Given the description of an element on the screen output the (x, y) to click on. 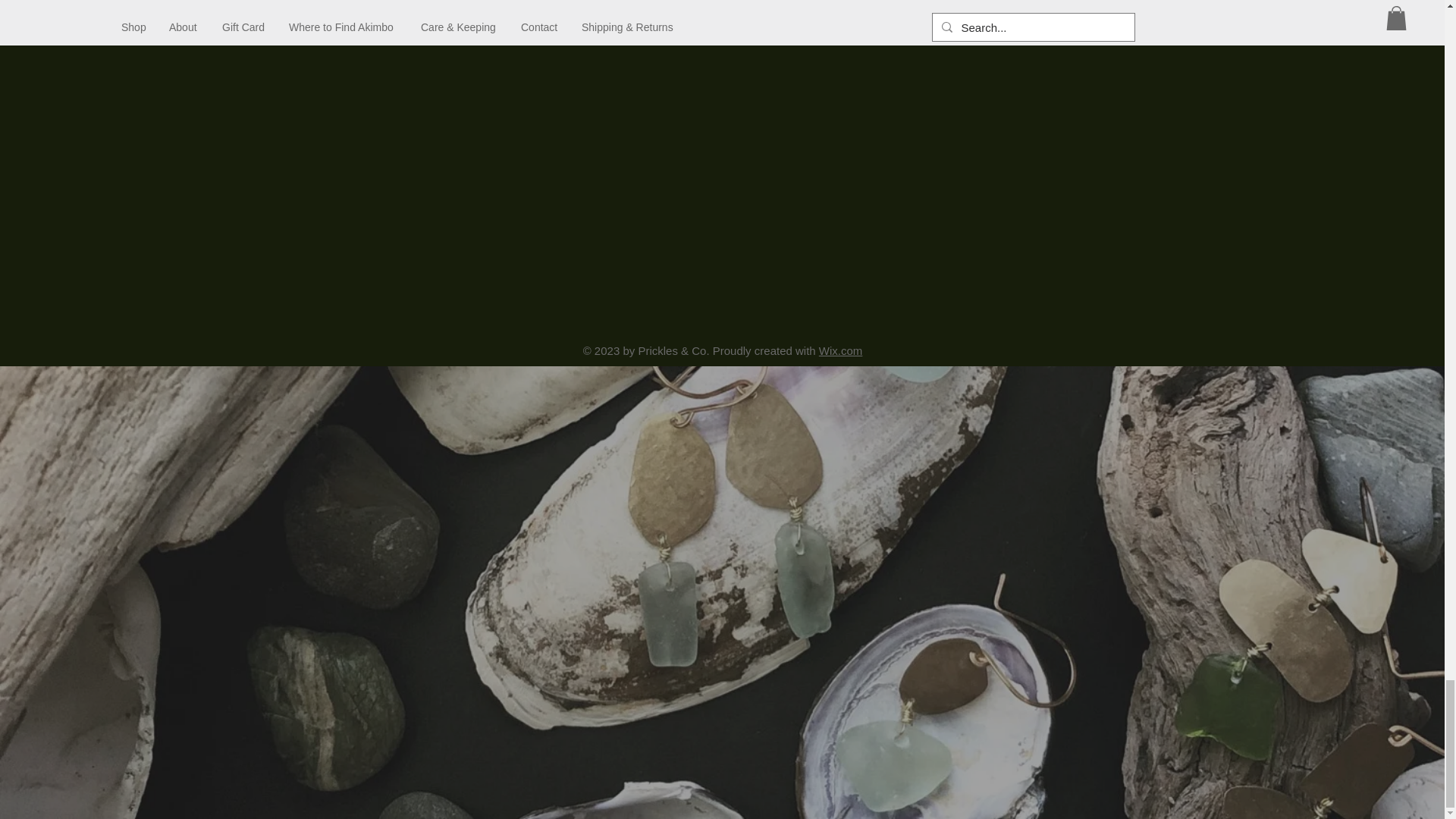
Wix.com (840, 350)
